Given the description of an element on the screen output the (x, y) to click on. 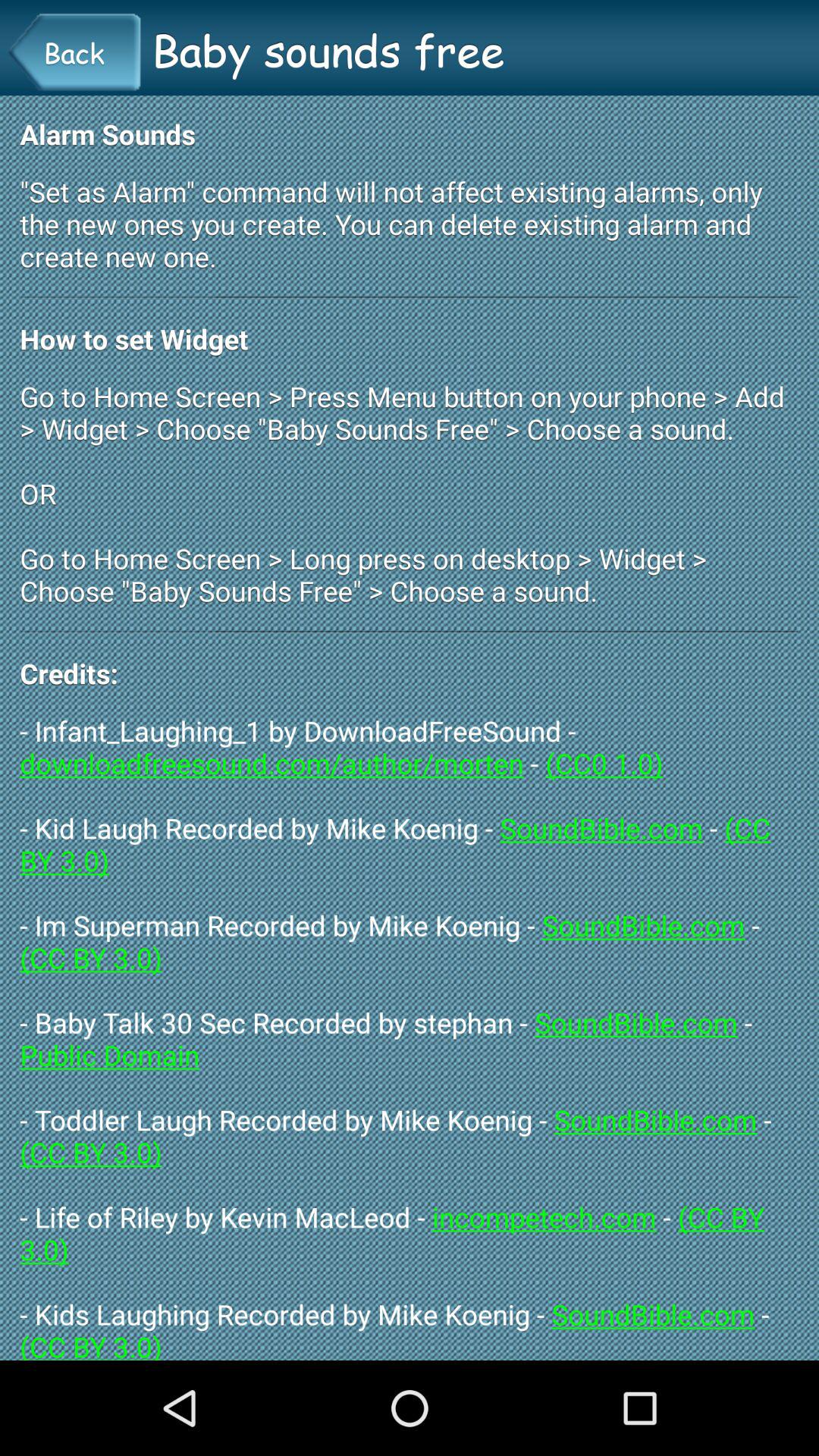
open the icon next to baby sounds free icon (73, 52)
